Given the description of an element on the screen output the (x, y) to click on. 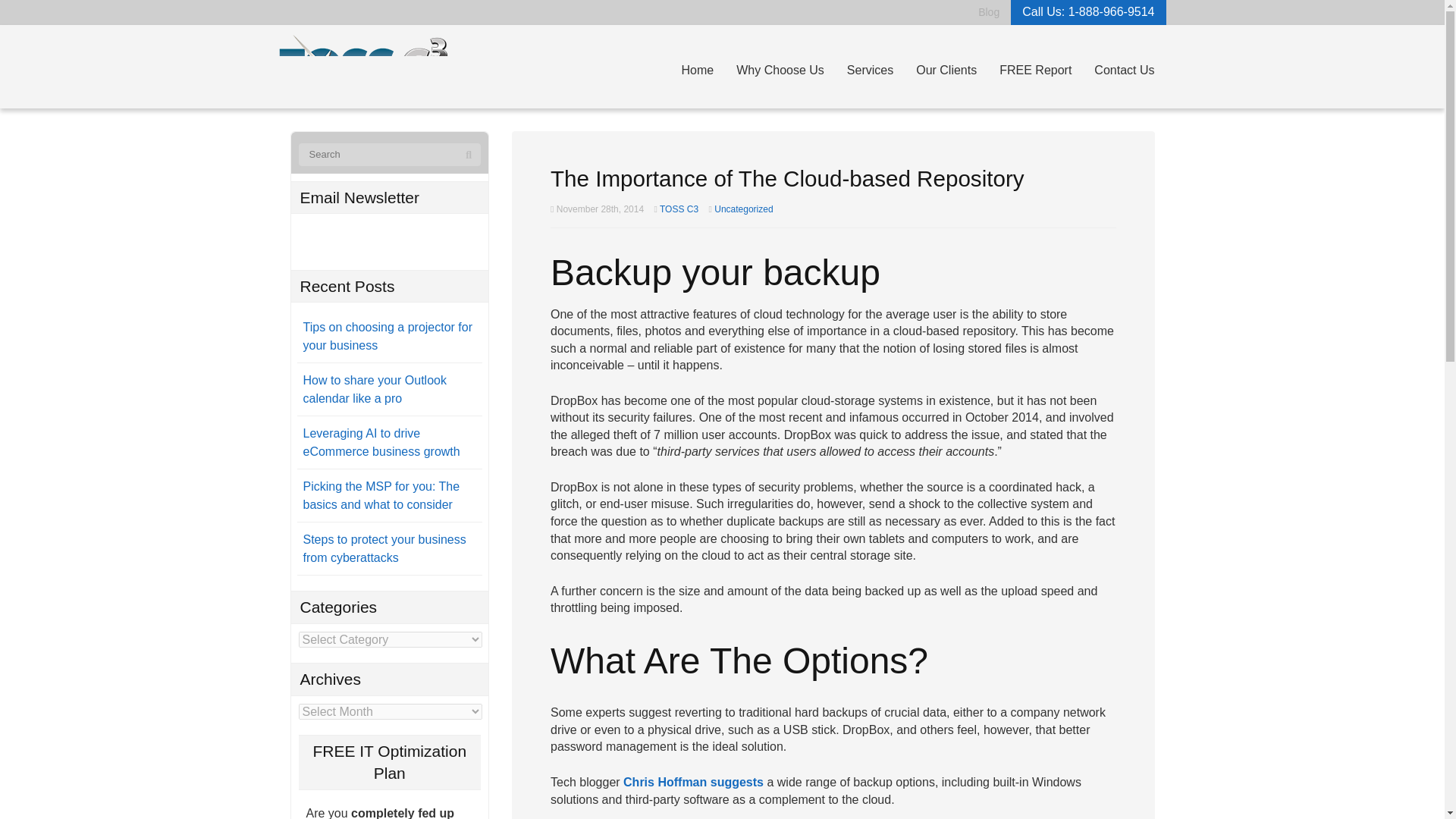
Leveraging AI to drive eCommerce business growth (381, 441)
Uncategorized (743, 208)
Our Clients (946, 70)
How to share your Outlook calendar like a pro (374, 388)
Contact Us (1124, 70)
Services (869, 70)
Blog (988, 11)
FREE Report (1035, 70)
Tips on choosing a projector for your business (387, 336)
Search (468, 155)
